Given the description of an element on the screen output the (x, y) to click on. 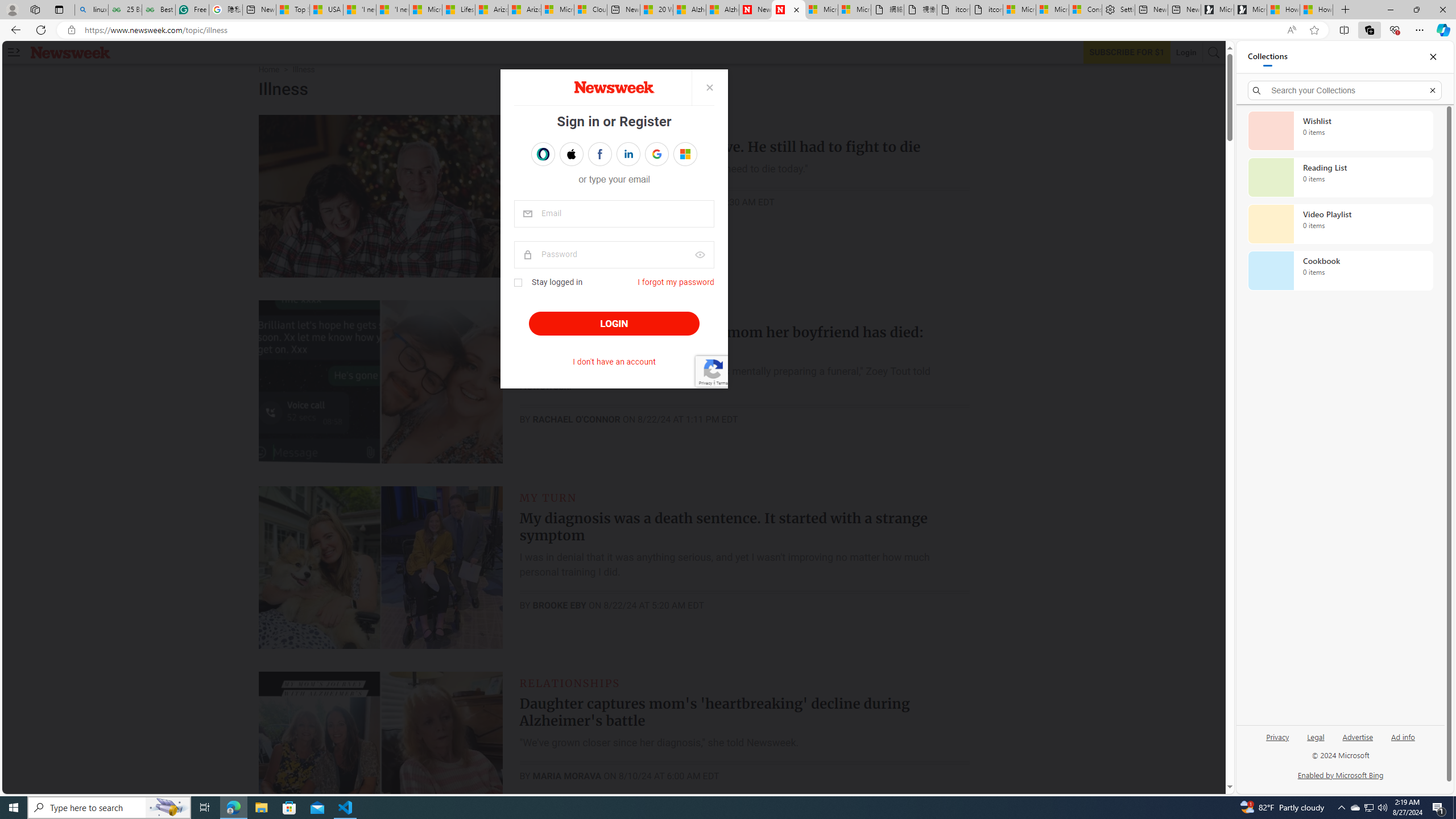
email (613, 213)
Newsweek - News, Analysis, Politics, Business, Technology (755, 9)
Exit search (1432, 90)
itconcepthk.com/projector_solutions.mp4 (986, 9)
Eugene (677, 153)
MY TURN (547, 497)
